Given the description of an element on the screen output the (x, y) to click on. 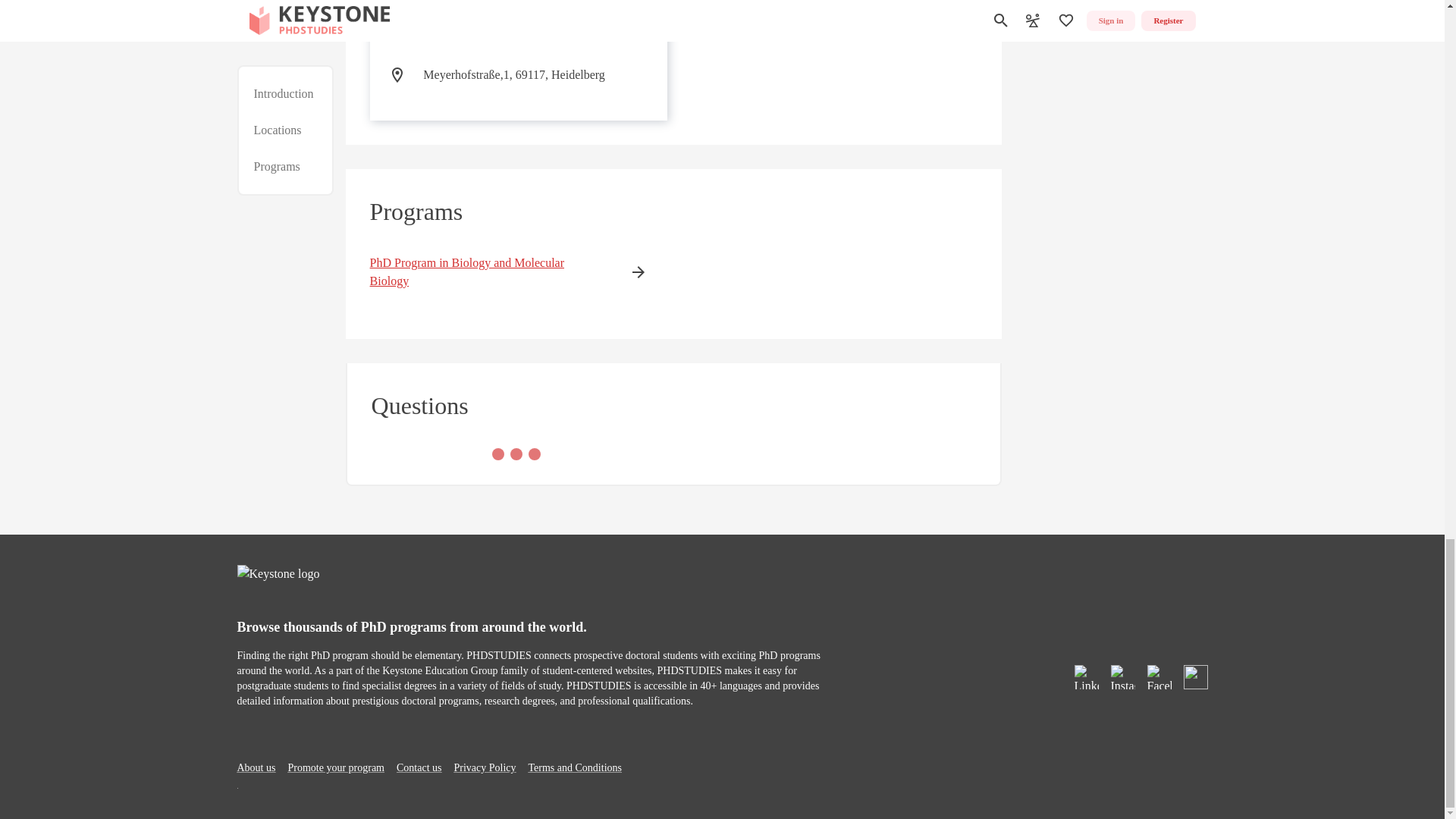
About us (255, 767)
Promote your program (335, 767)
PhD Program in Biology and Molecular Biology (485, 271)
Contact us (419, 767)
Terms and Conditions (574, 767)
Privacy Policy (673, 253)
